Given the description of an element on the screen output the (x, y) to click on. 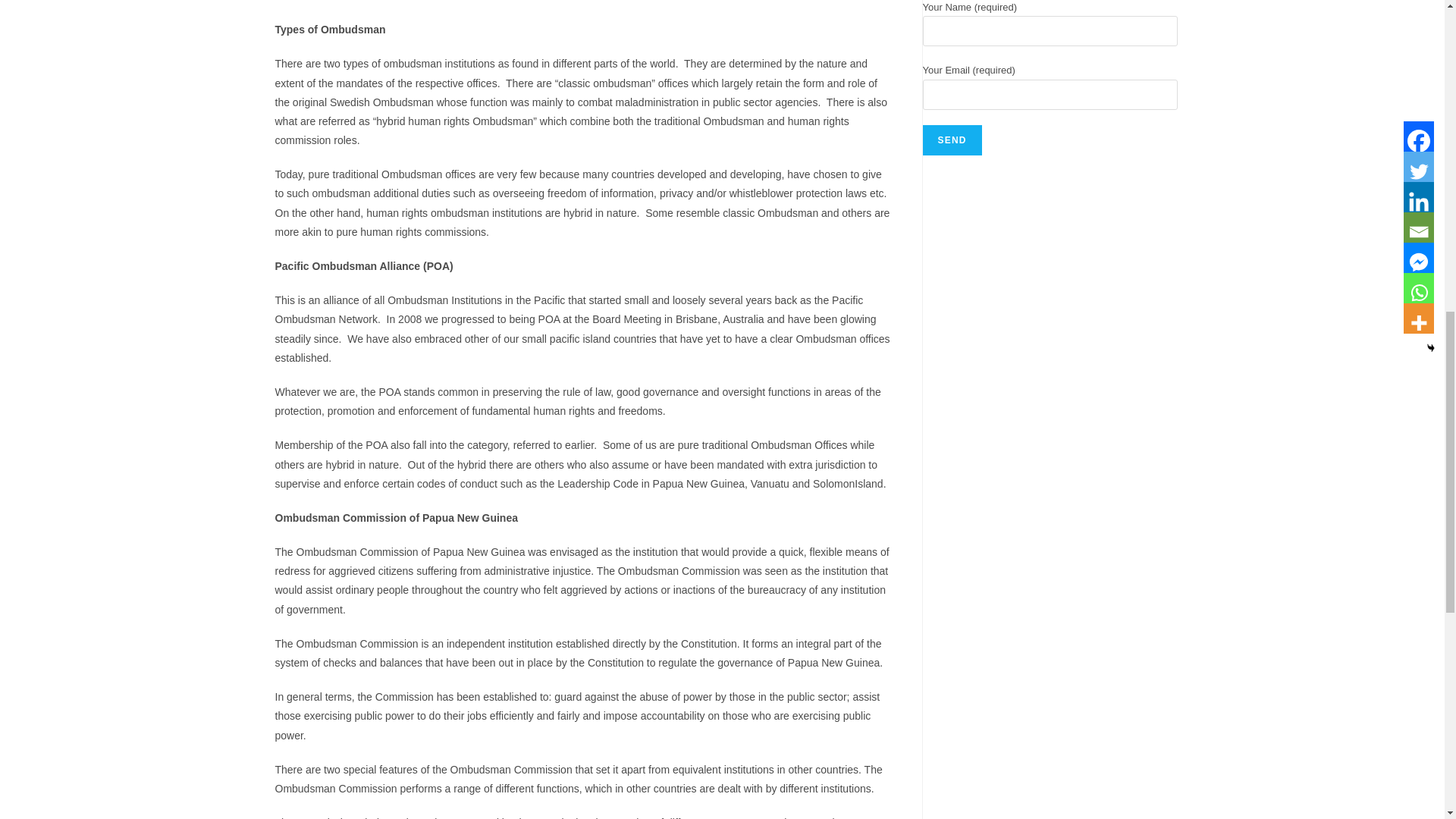
Send (951, 140)
